Given the description of an element on the screen output the (x, y) to click on. 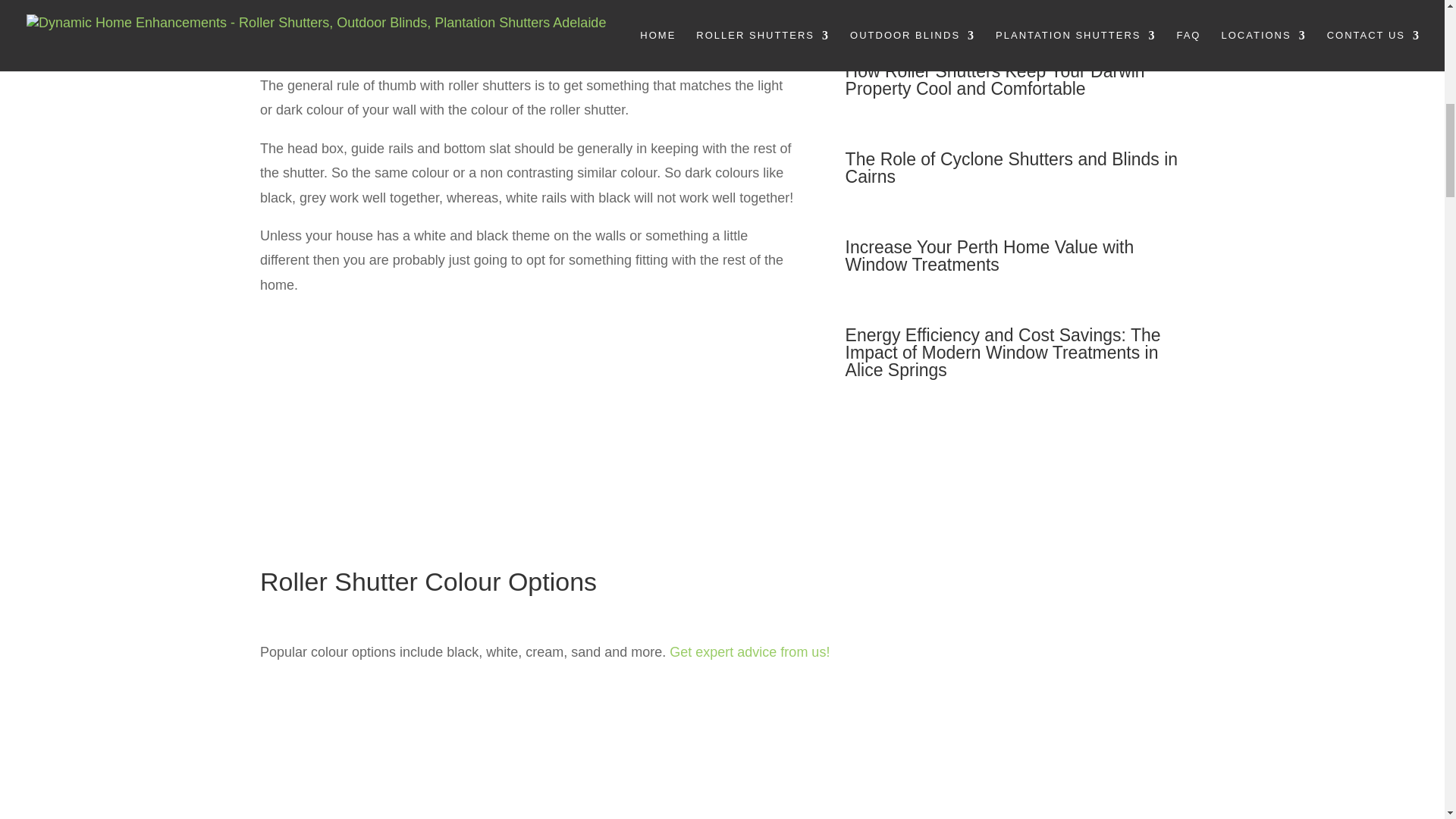
White (641, 814)
Woodland Grey Roller Shutter (478, 764)
Striped Roller Shutter (315, 814)
Woodland Grey (478, 814)
Striped Roller Shutter (315, 764)
